Given the description of an element on the screen output the (x, y) to click on. 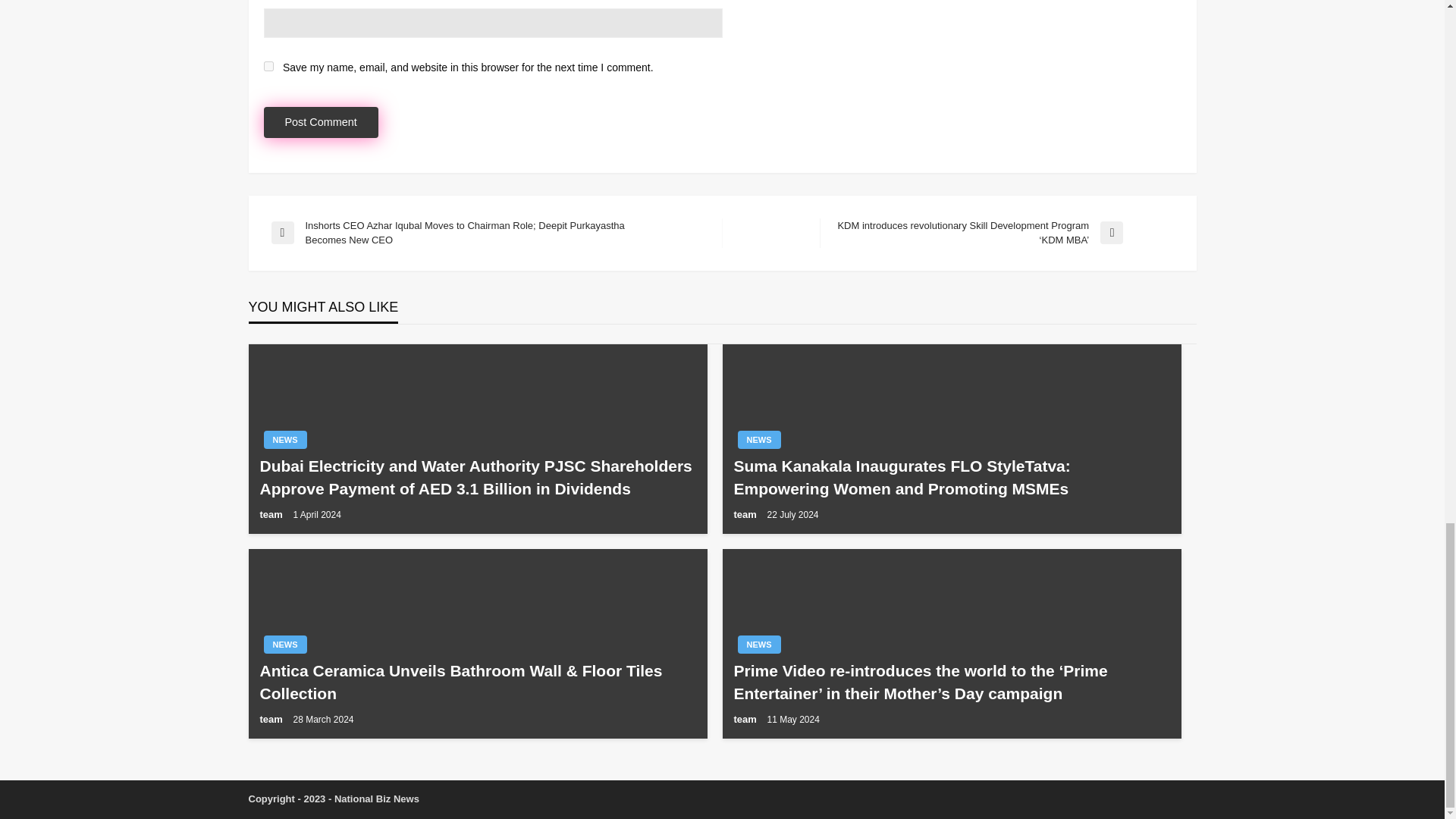
team (272, 514)
NEWS (758, 439)
Post Comment (320, 122)
team (746, 514)
NEWS (285, 644)
team (272, 718)
team (746, 718)
